Given the description of an element on the screen output the (x, y) to click on. 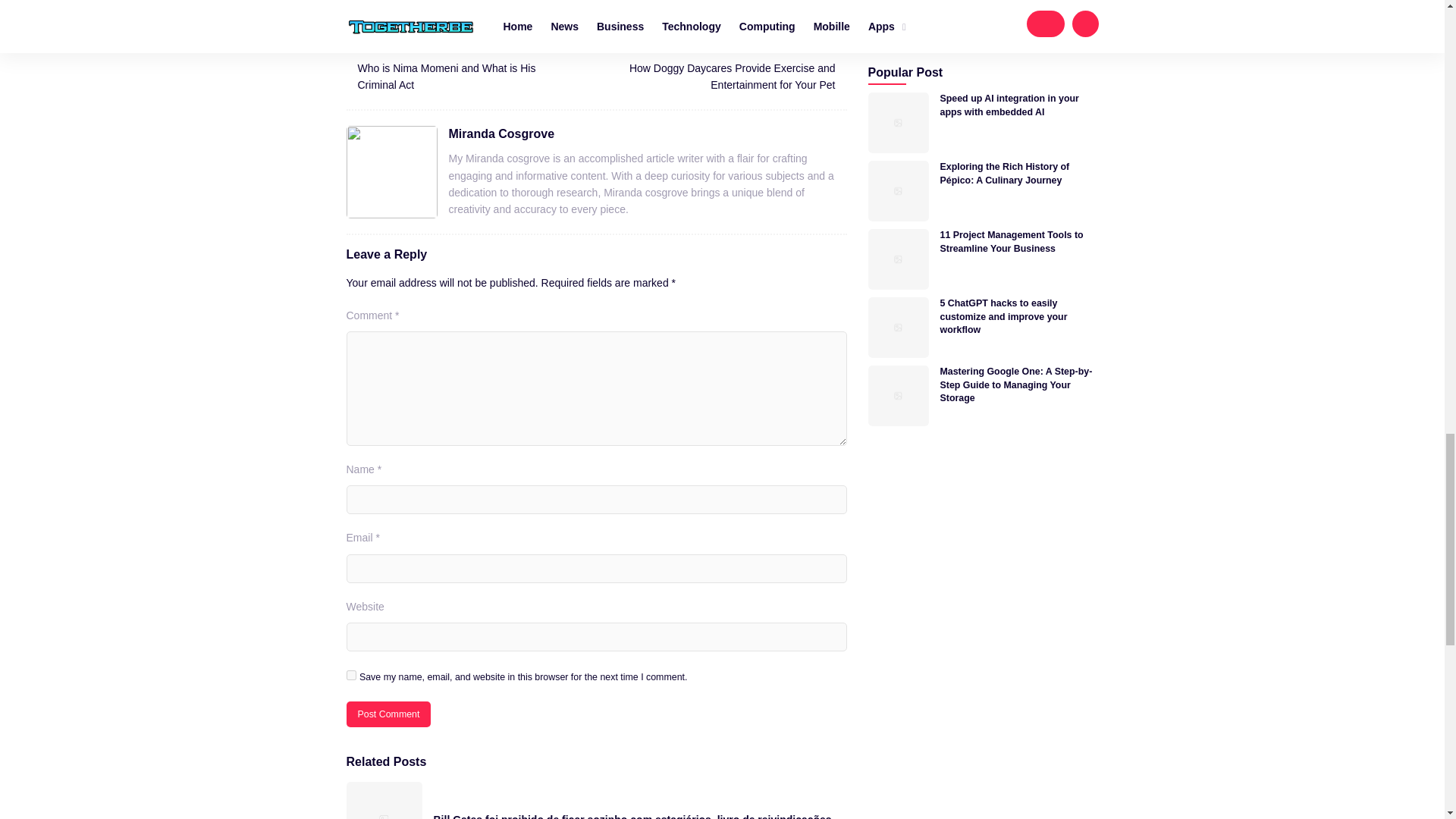
Post Comment (388, 714)
Share on Facebook (403, 9)
Share on Twitter (453, 9)
Share on Whatsapp (502, 9)
yes (350, 675)
Share on Email (552, 9)
